Given the description of an element on the screen output the (x, y) to click on. 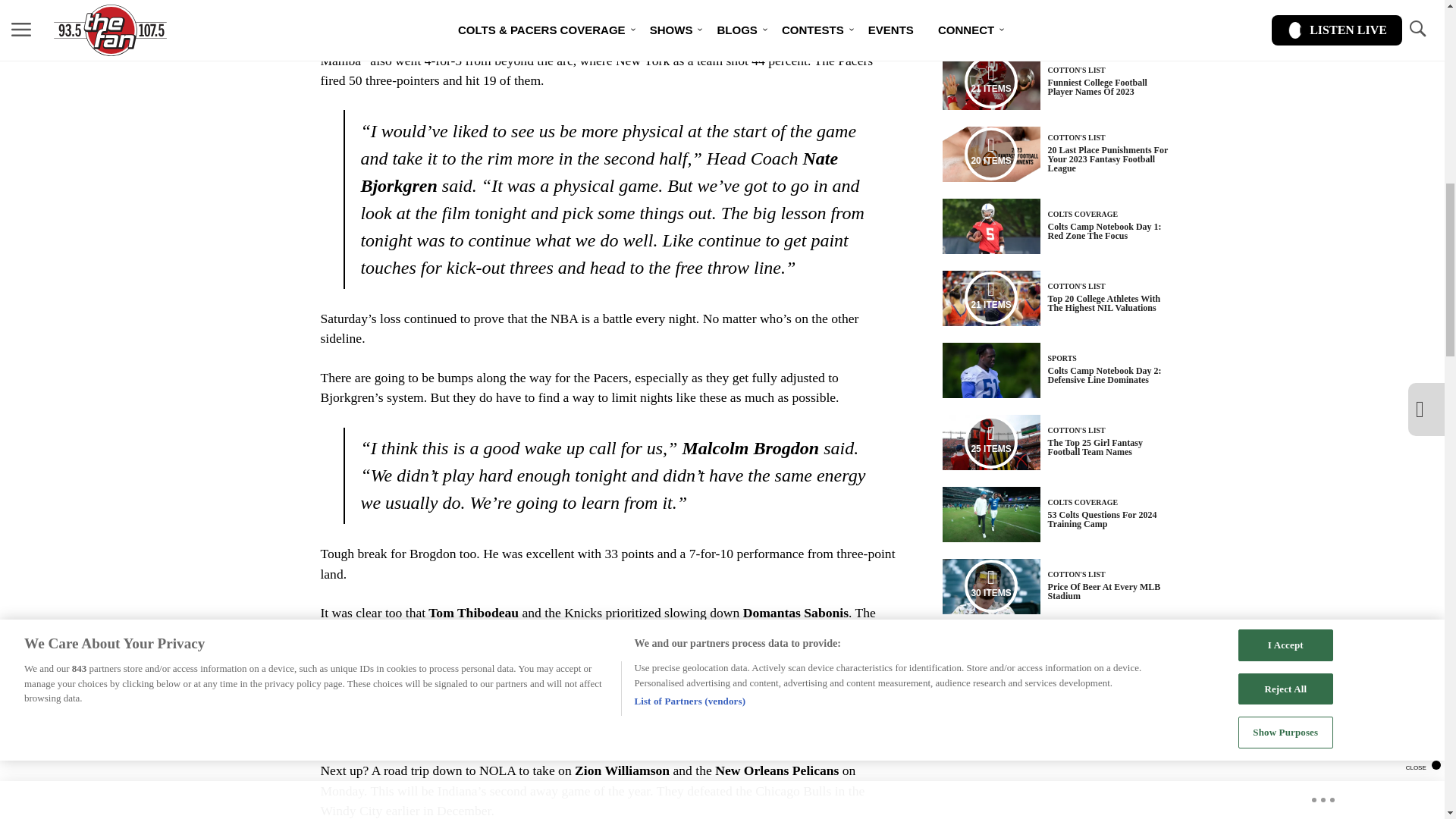
Media Playlist (990, 153)
Media Playlist (990, 441)
Media Playlist (990, 297)
Media Playlist (990, 81)
Media Playlist (990, 585)
